Given the description of an element on the screen output the (x, y) to click on. 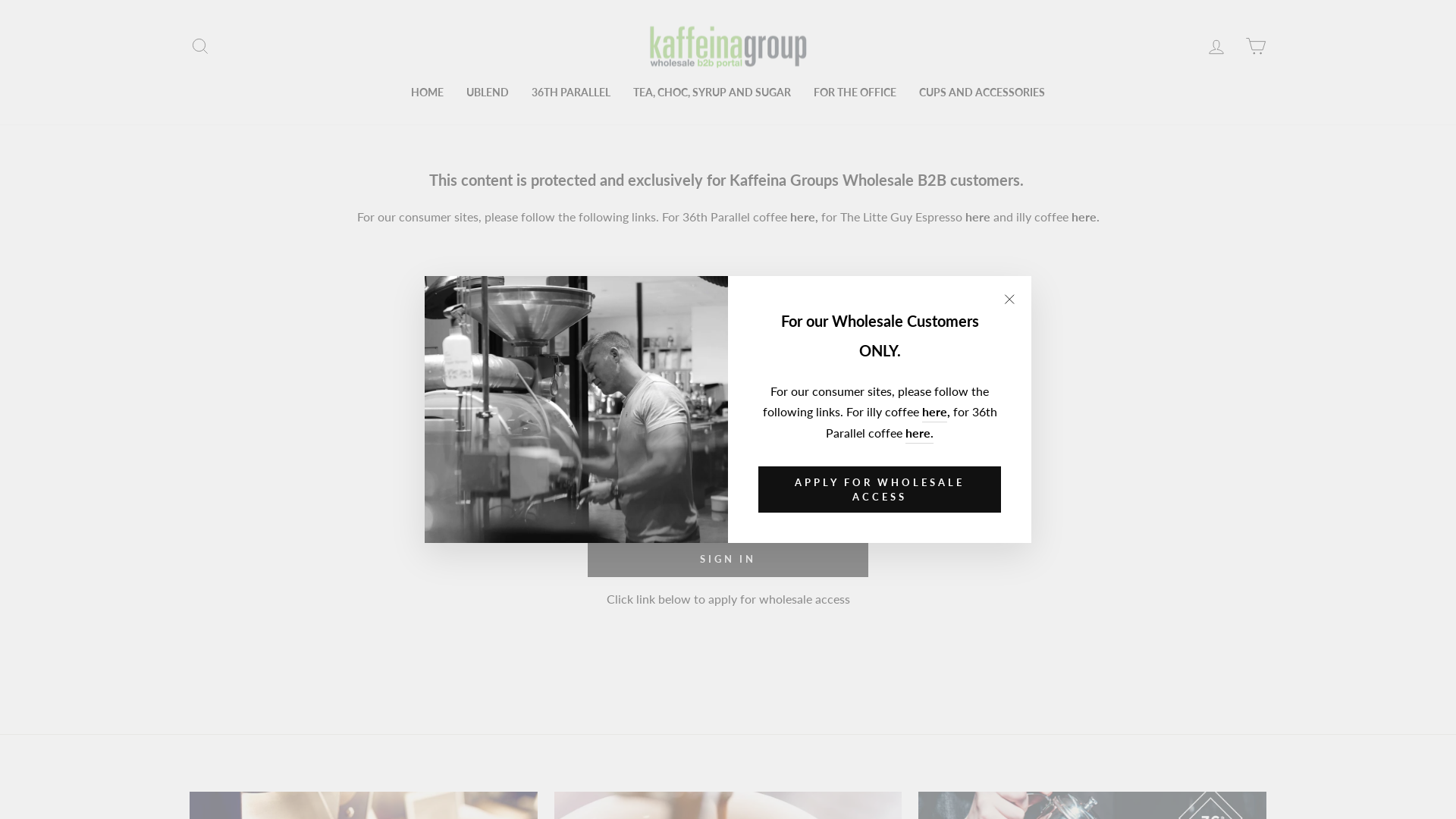
TEA, CHOC, SYRUP AND SUGAR Element type: text (711, 92)
"Close (esc)" Element type: text (1008, 298)
here Element type: text (976, 216)
HOME Element type: text (427, 92)
UBLEND Element type: text (487, 92)
Click link below to apply for wholesale access Element type: text (728, 598)
here Element type: text (1082, 216)
here Element type: text (802, 216)
CART Element type: text (1255, 45)
FOR THE OFFICE Element type: text (854, 92)
APPLY FOR WHOLESALE ACCESS Element type: text (879, 489)
LOG IN Element type: text (1216, 45)
Forgot password? Element type: text (826, 467)
here Element type: text (934, 411)
SEARCH Element type: text (199, 45)
SIGN IN Element type: text (727, 558)
36TH PARALLEL Element type: text (570, 92)
CUPS AND ACCESSORIES Element type: text (981, 92)
here. Element type: text (919, 432)
